Given the description of an element on the screen output the (x, y) to click on. 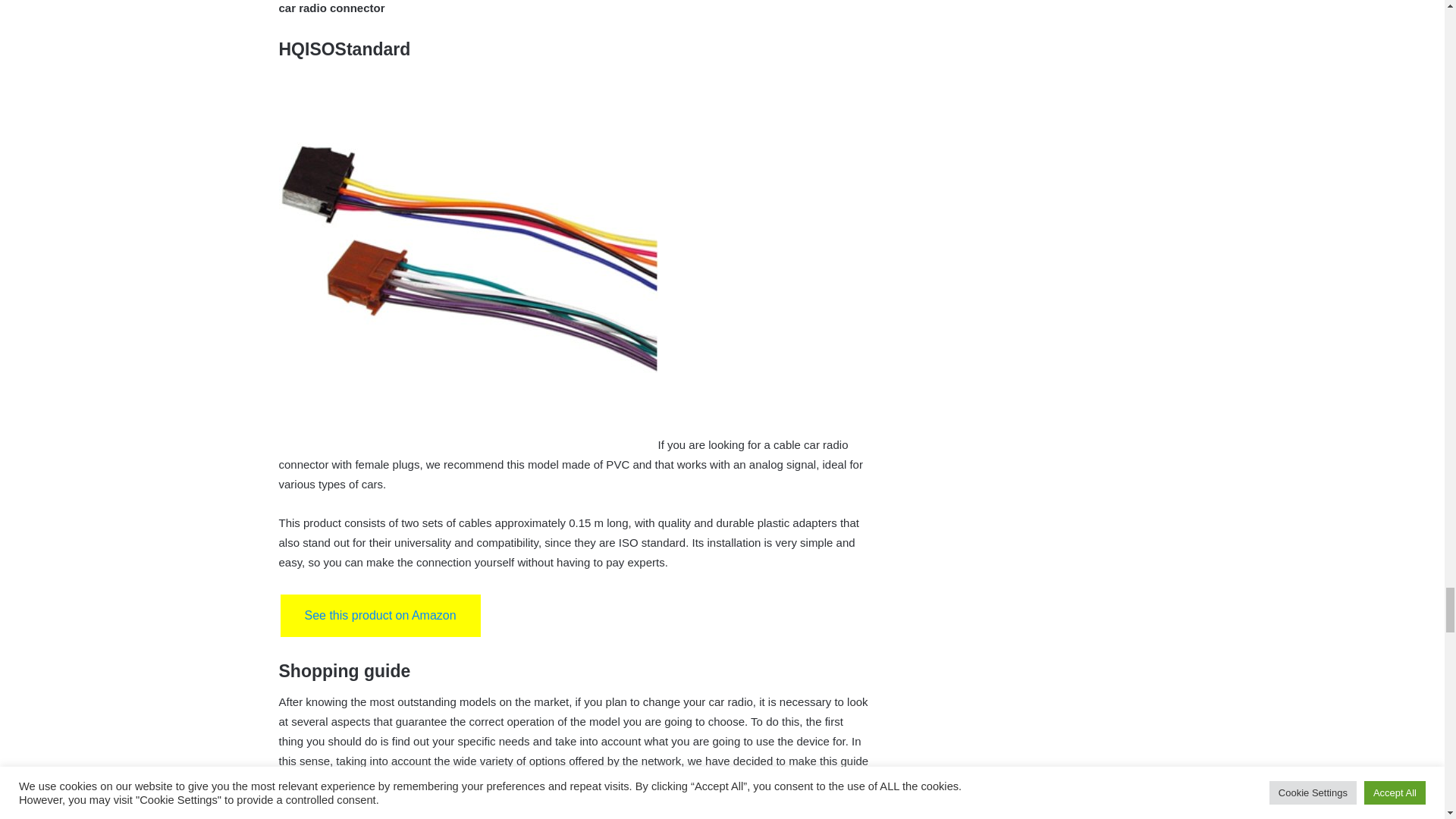
See this product on Amazon (380, 615)
